Given the description of an element on the screen output the (x, y) to click on. 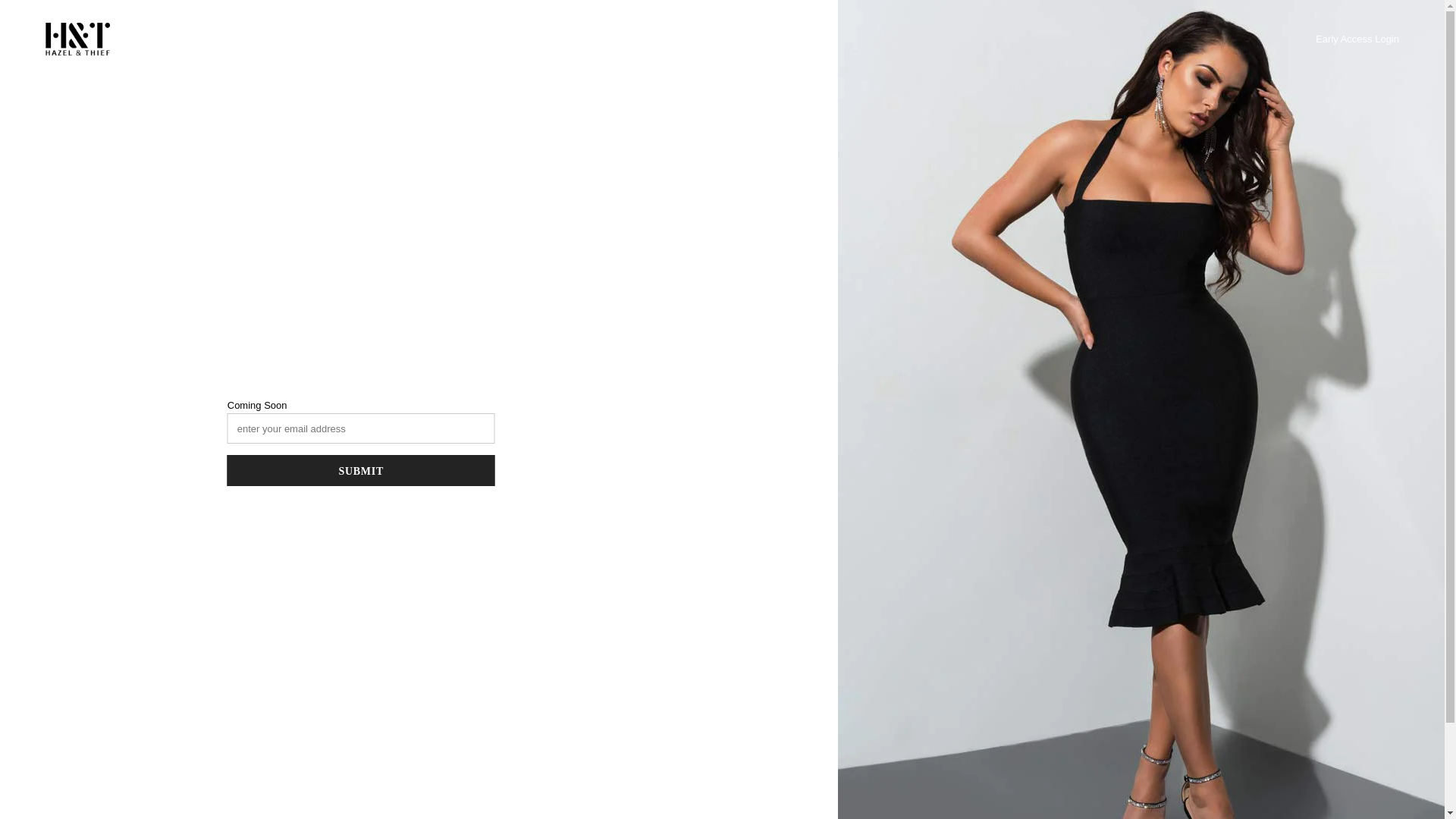
Submit Element type: text (361, 470)
Logo Element type: hover (77, 39)
